Given the description of an element on the screen output the (x, y) to click on. 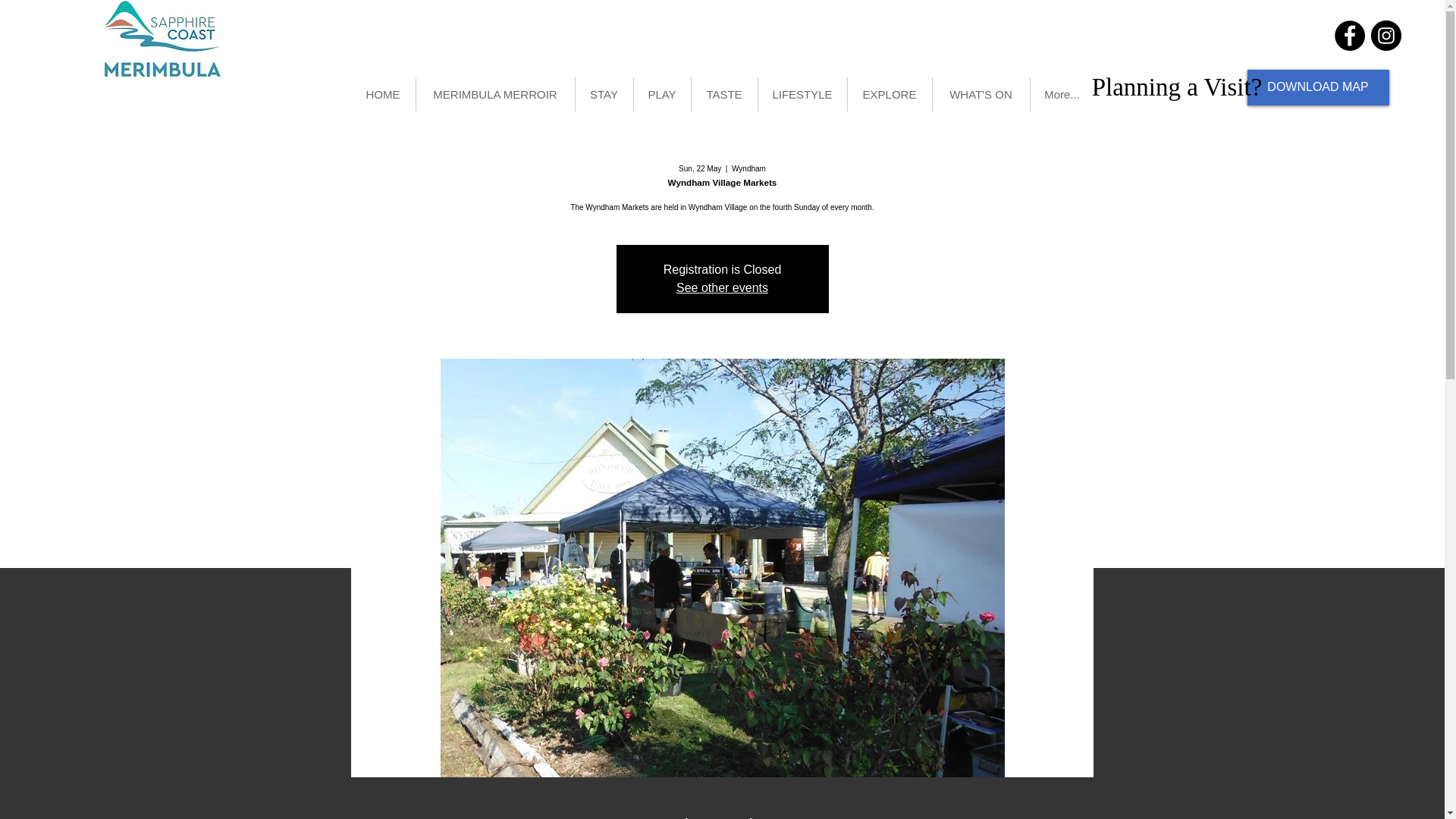
WHAT'S ON (981, 93)
HOME (382, 93)
TASTE (724, 93)
MERIMBULA MERROIR (493, 93)
PLAY (661, 93)
STAY (603, 93)
LIFESTYLE (802, 93)
EXPLORE (889, 93)
